Given the description of an element on the screen output the (x, y) to click on. 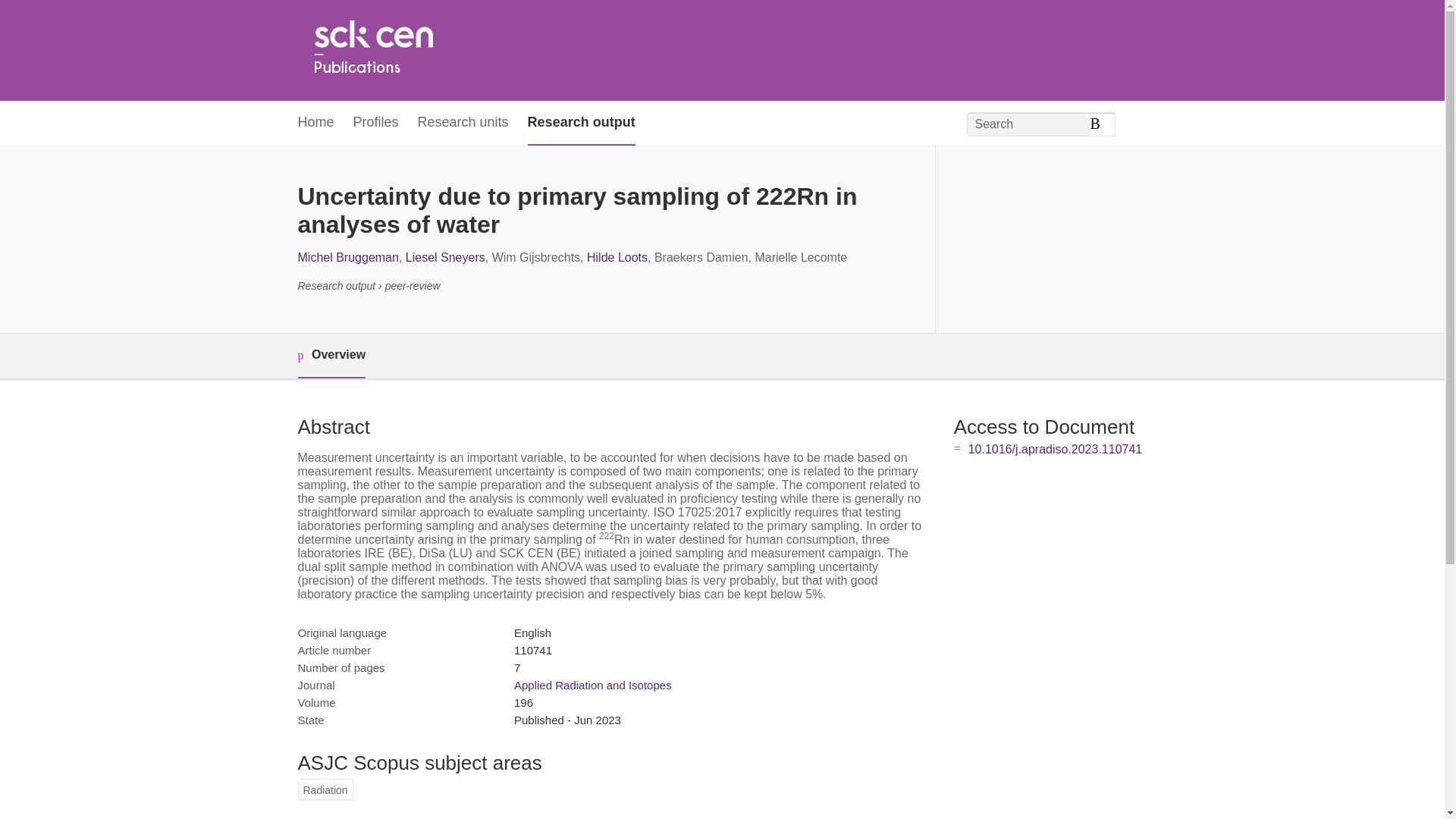
Liesel Sneyers (445, 256)
Home (372, 50)
Overview (331, 355)
Research output (580, 122)
Applied Radiation and Isotopes (592, 684)
Profiles (375, 122)
Hilde Loots (616, 256)
Research units (462, 122)
Michel Bruggeman (347, 256)
